Given the description of an element on the screen output the (x, y) to click on. 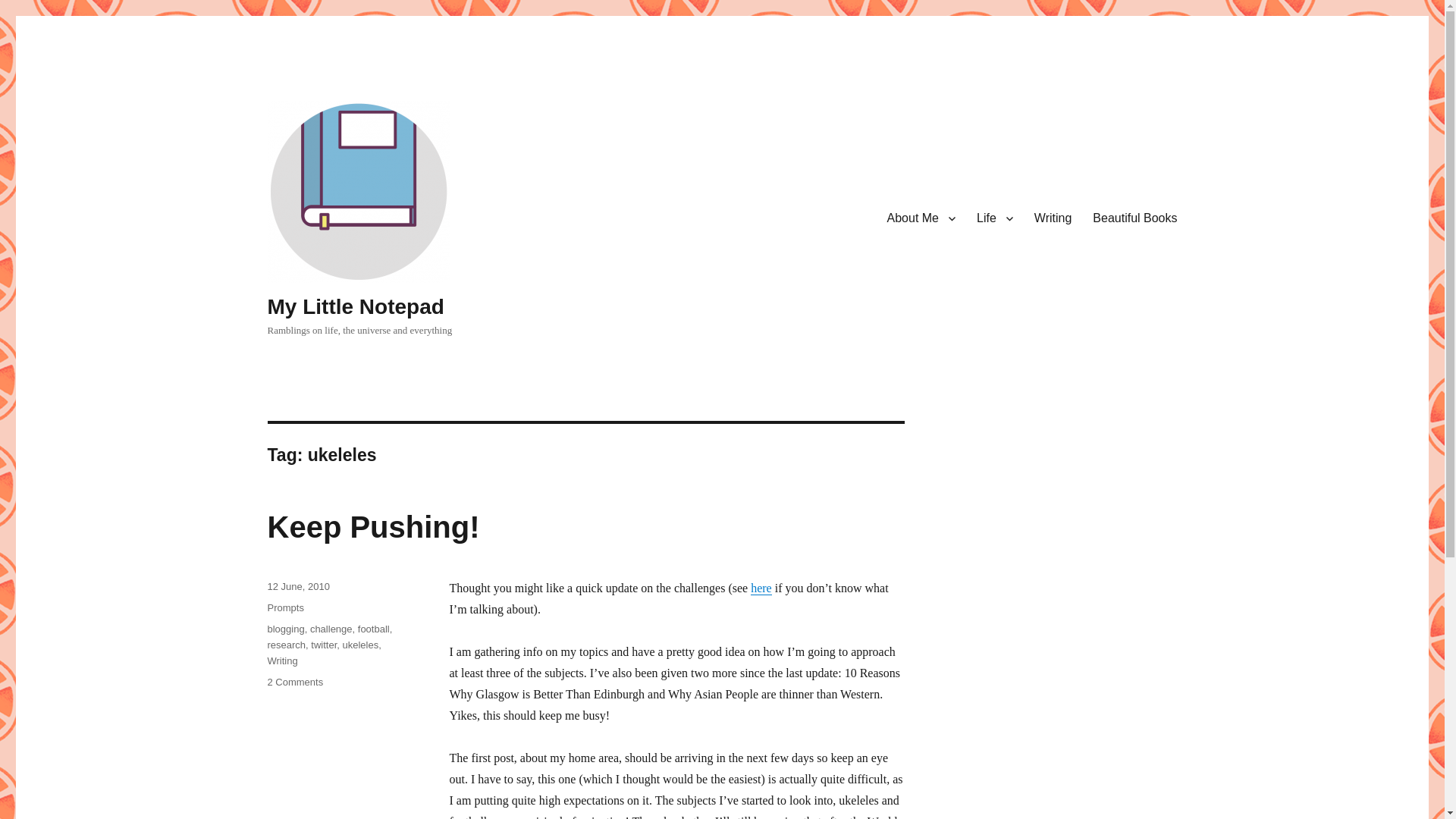
blogging (285, 628)
football (374, 628)
Beautiful Books (1134, 218)
ukeleles (360, 644)
challenge (331, 628)
Prompts (284, 607)
here (761, 587)
research (285, 644)
My Little Notepad (355, 306)
12 June, 2010 (297, 586)
Keep Pushing! (294, 681)
About Me (372, 526)
Life (921, 218)
Push Me! (994, 218)
